Given the description of an element on the screen output the (x, y) to click on. 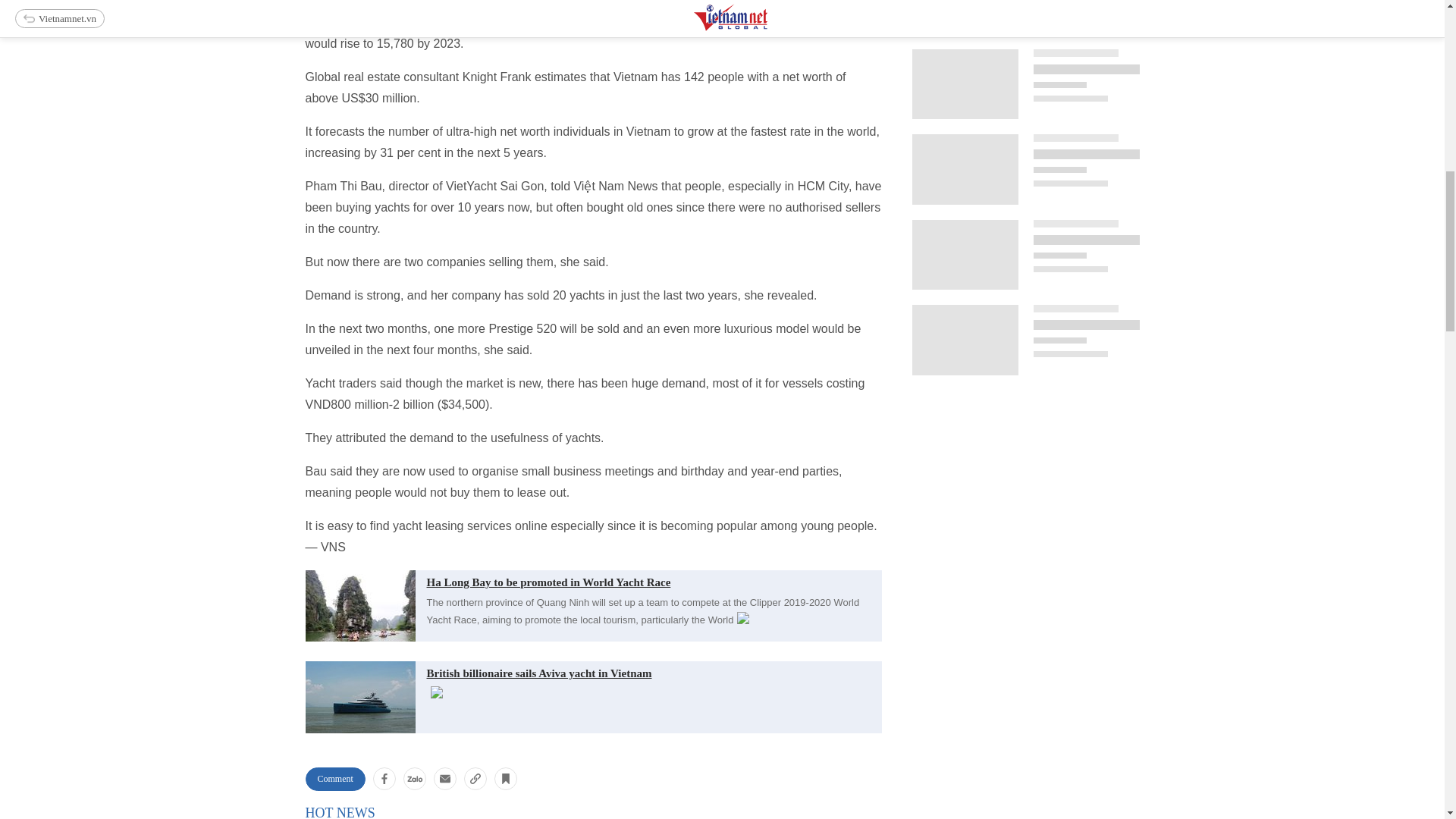
Share the post on facebook (384, 778)
Share the post on zalo (414, 778)
Share the post on email (445, 778)
British billionaire sails Aviva yacht in Vietnam (592, 671)
Ha Long Bay to be promoted in World Yacht Race (592, 580)
